Given the description of an element on the screen output the (x, y) to click on. 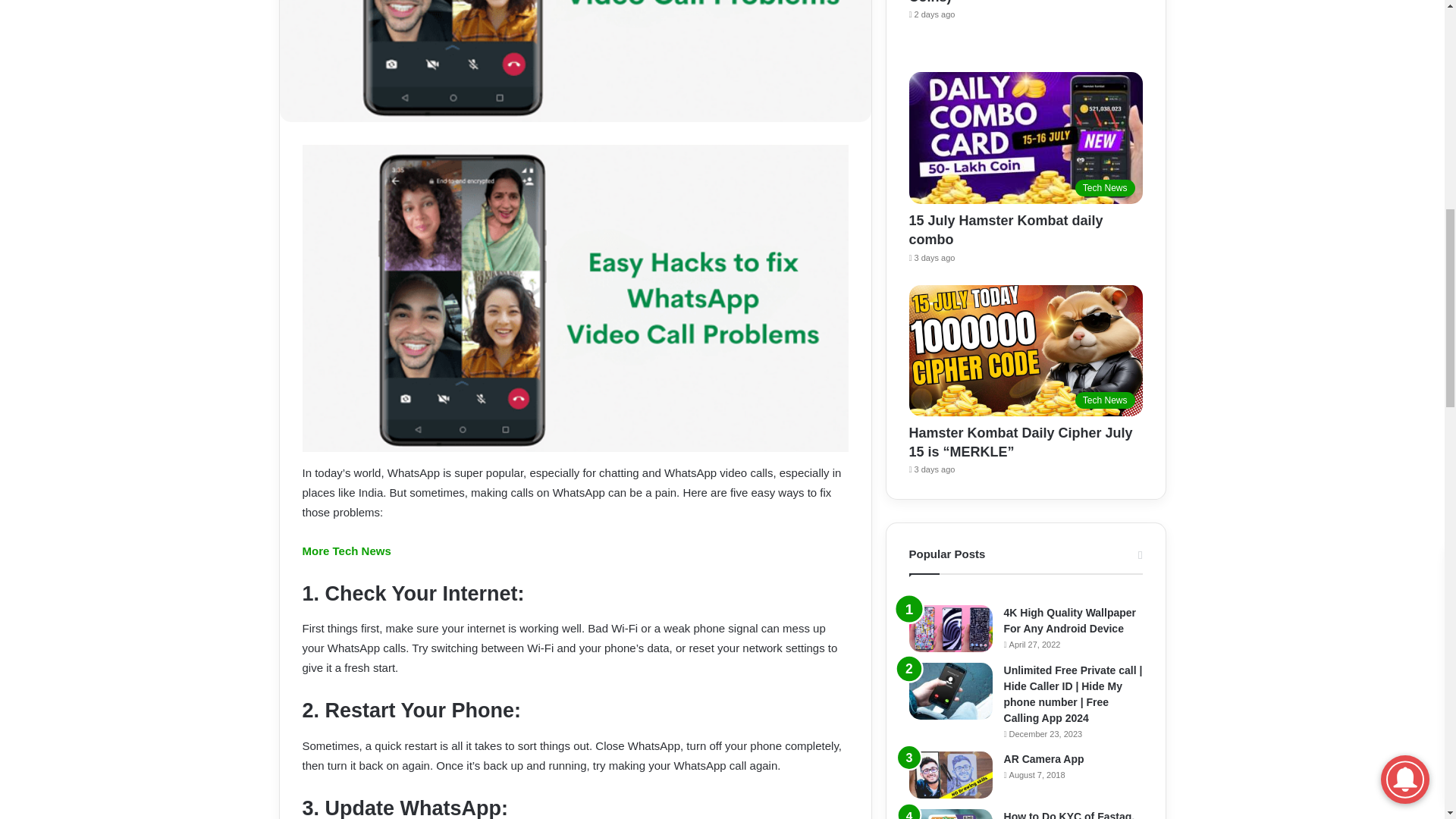
More Tech News (345, 550)
